Given the description of an element on the screen output the (x, y) to click on. 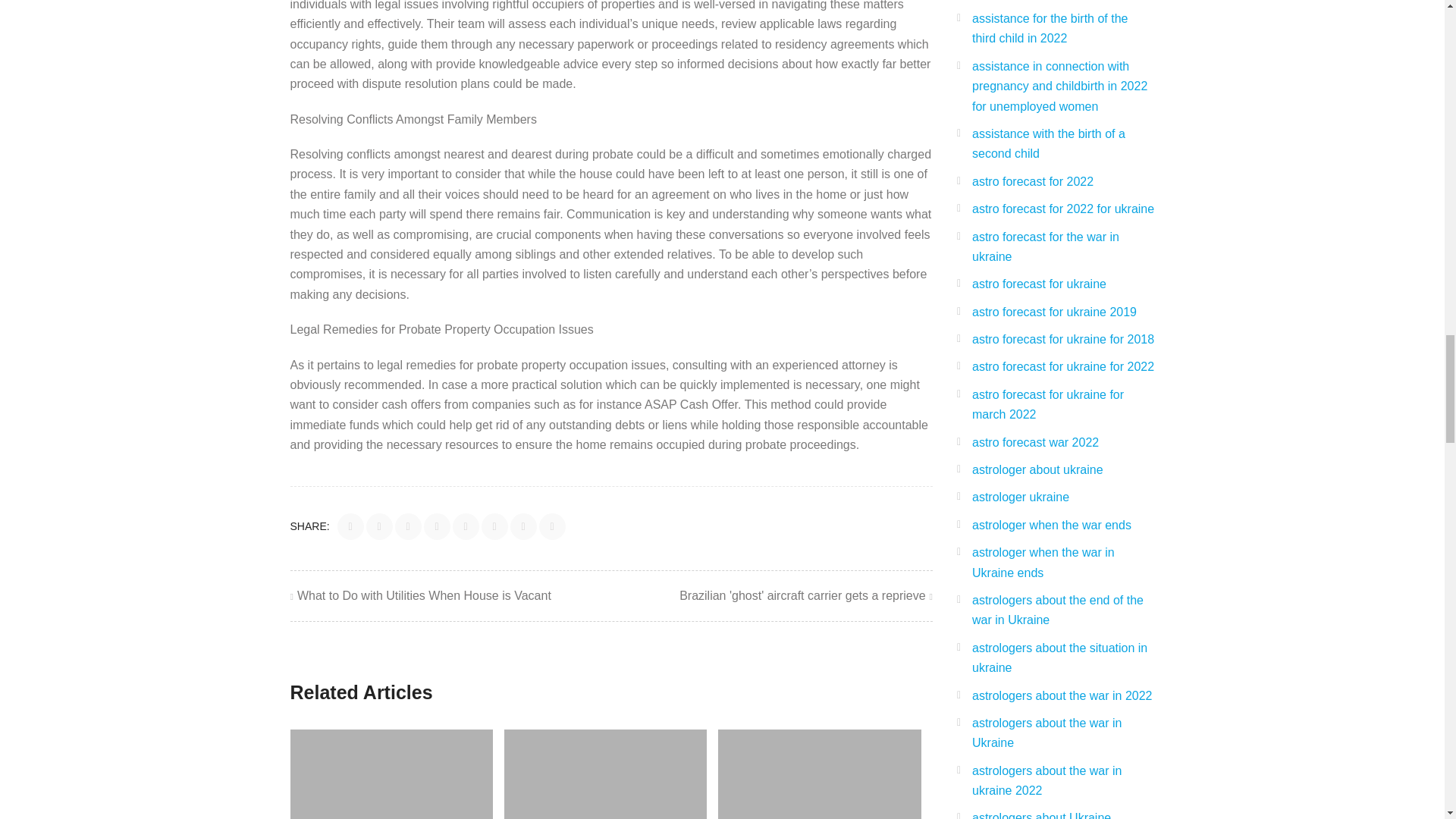
Share on Facebook (349, 526)
Share on Pinterest (465, 526)
Share on Linkedin (437, 526)
Share on Twitter (378, 526)
Mail to Friend (552, 526)
Share on Stumbleupon (493, 526)
Share on Tumblr (523, 526)
